Given the description of an element on the screen output the (x, y) to click on. 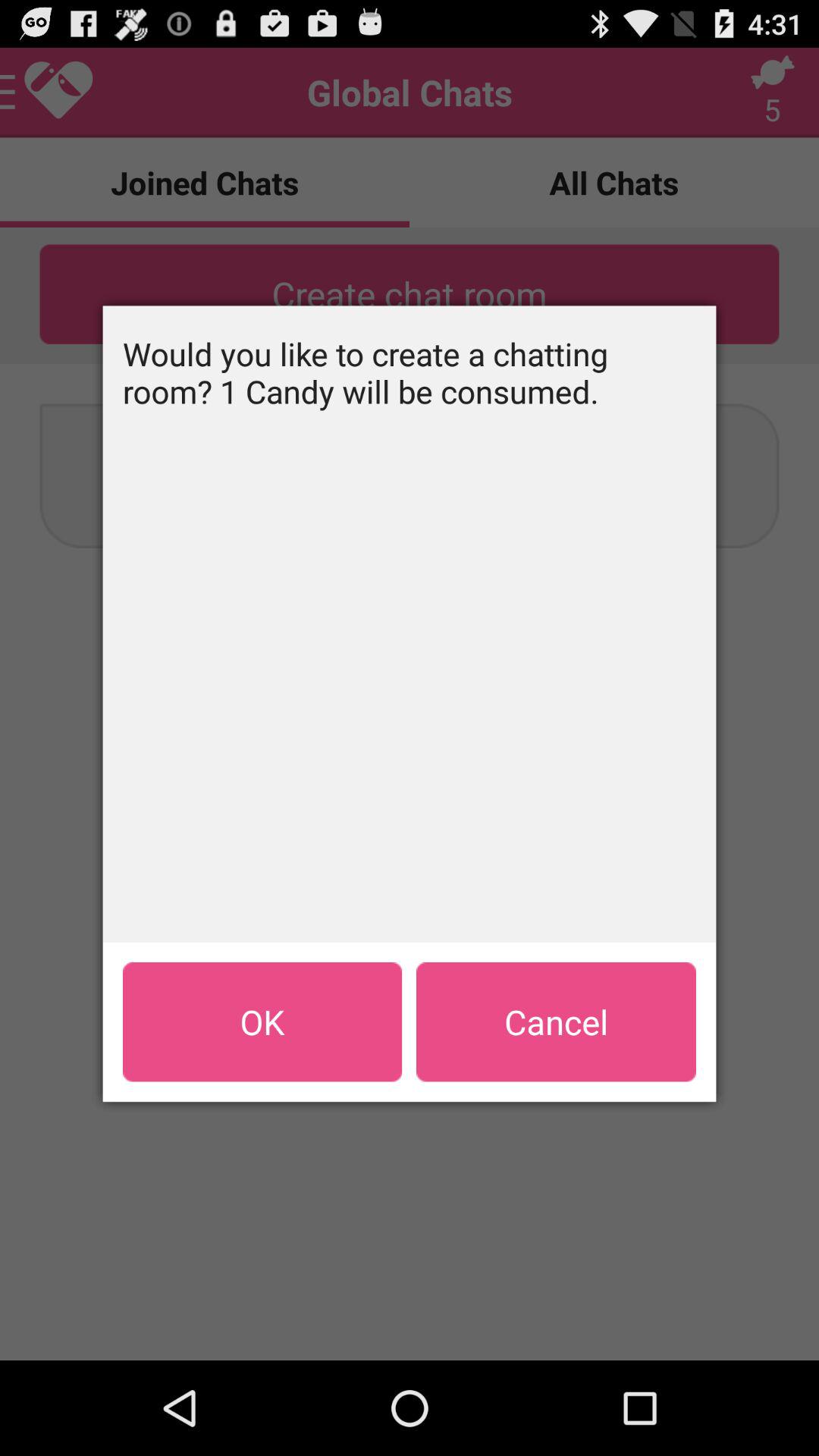
flip until ok item (262, 1021)
